Given the description of an element on the screen output the (x, y) to click on. 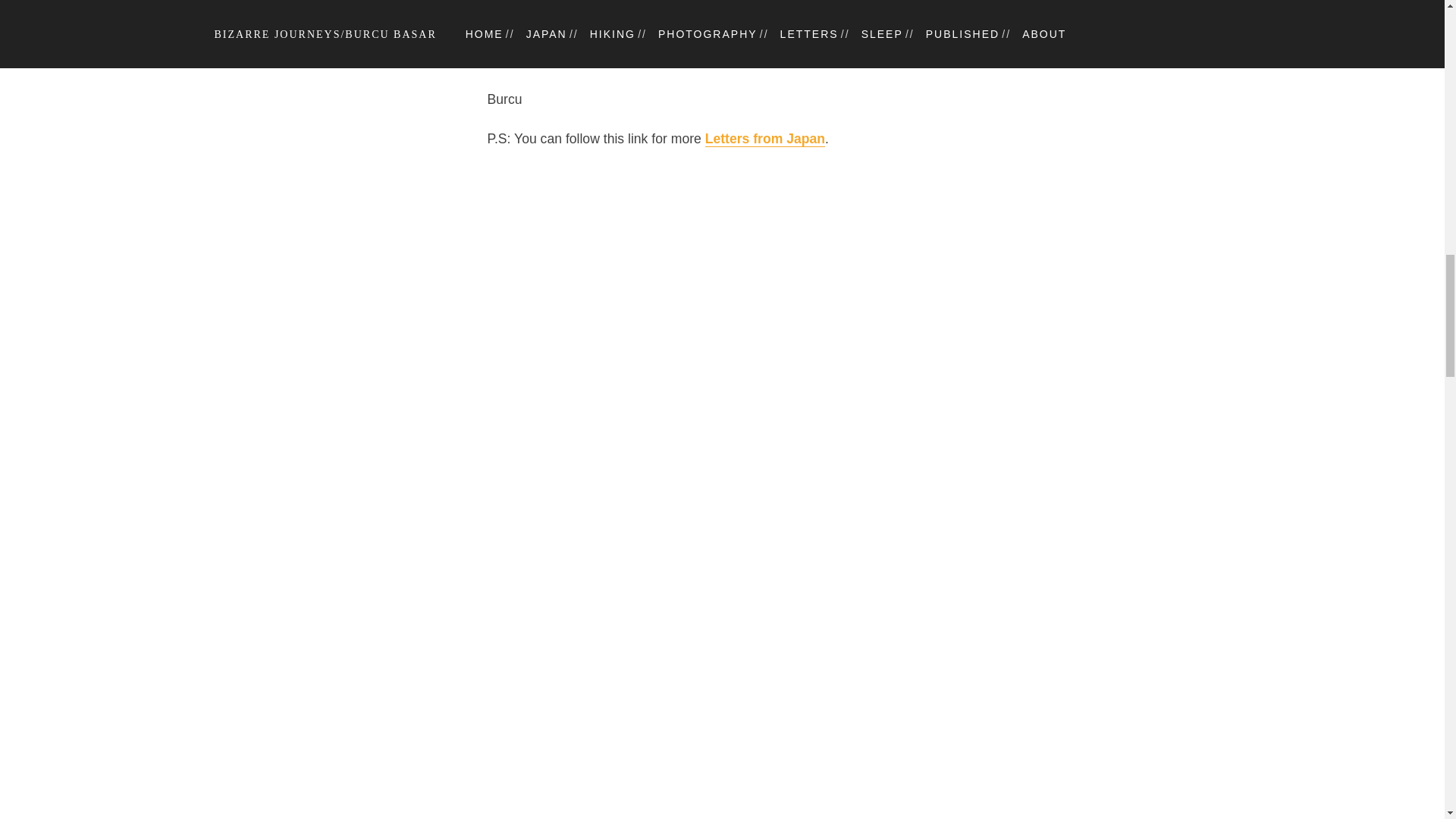
Letters from Japan (764, 139)
Non-Guide Books For Your Trip to Japan (788, 19)
